Given the description of an element on the screen output the (x, y) to click on. 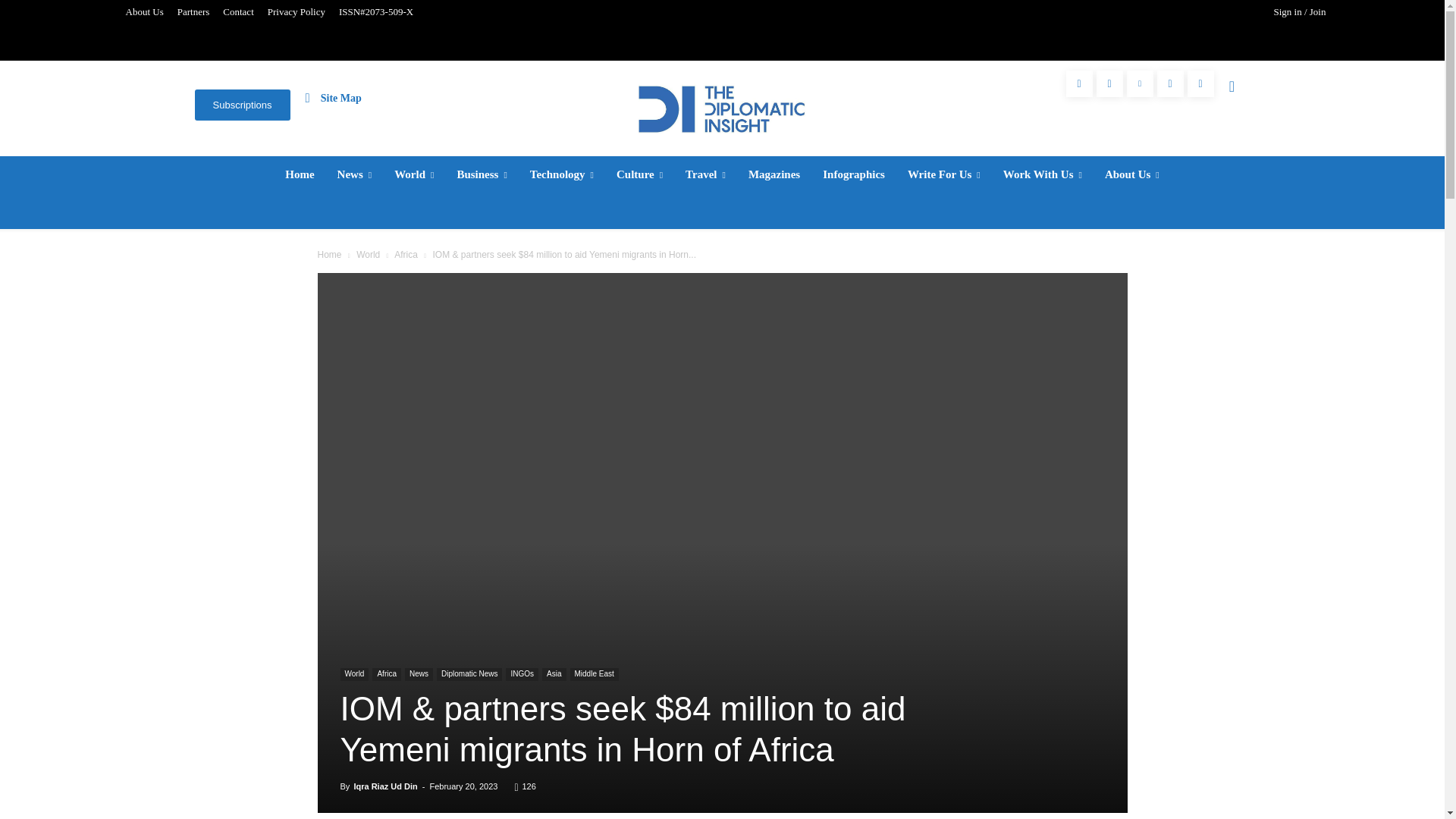
Twitter (1170, 82)
View all posts in Africa (405, 254)
View all posts in World (368, 254)
Youtube (1201, 82)
Facebook (1079, 82)
Instagram (1109, 82)
Linkedin (1139, 82)
Site Map (333, 97)
Subscriptions (241, 104)
